Given the description of an element on the screen output the (x, y) to click on. 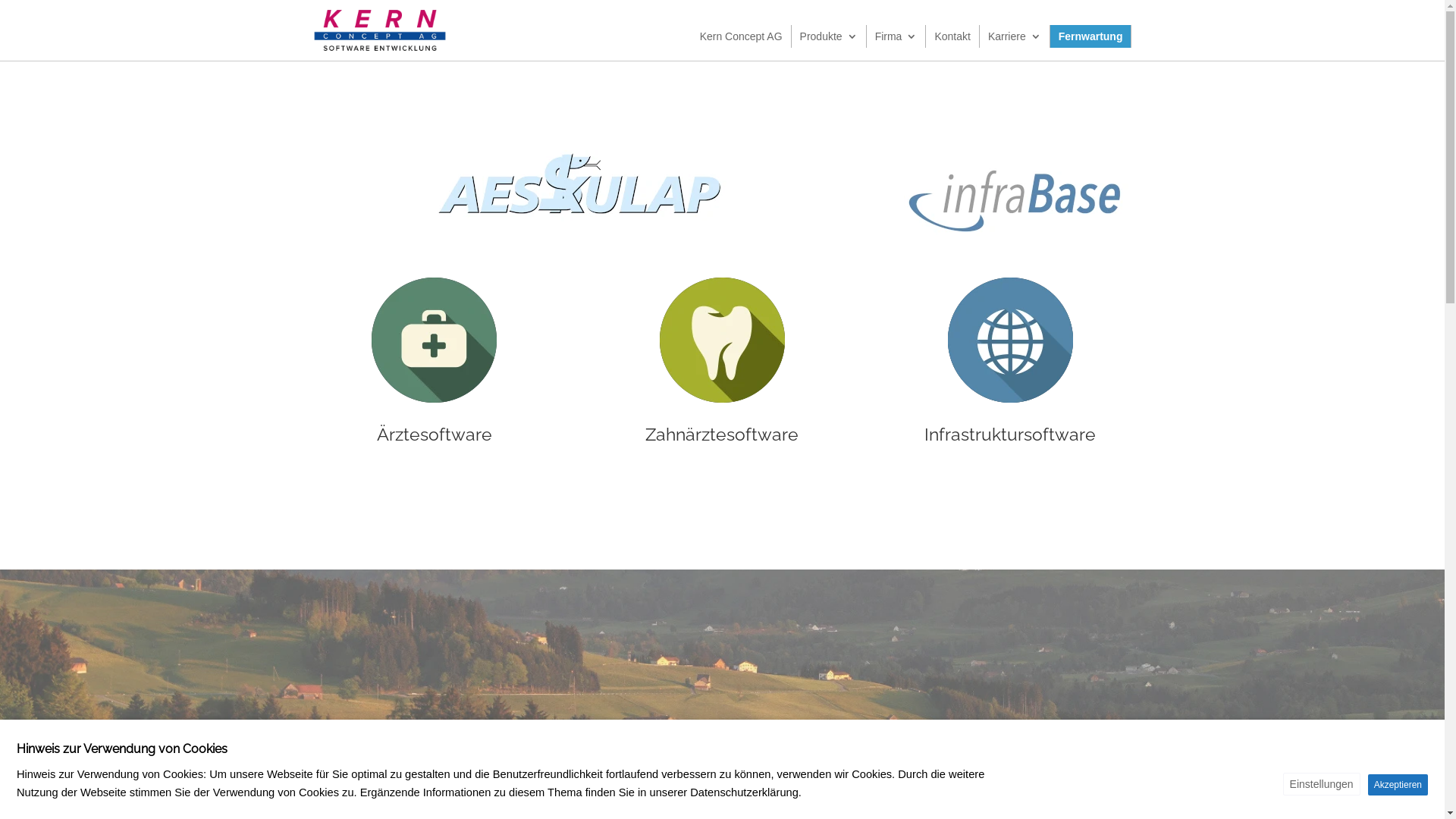
Produkte Element type: text (828, 36)
Karriere Element type: text (1014, 36)
KernConcept_Logo_klein Element type: hover (379, 30)
logo_infrabase Element type: hover (1017, 200)
Akzeptieren Element type: text (1397, 784)
Firma Element type: text (896, 36)
Einstellungen Element type: text (1321, 783)
Kontakt Element type: text (951, 36)
Kern Concept AG Element type: text (740, 36)
logo_aeskulap Element type: hover (577, 185)
Fernwartung Element type: text (1090, 36)
